Given the description of an element on the screen output the (x, y) to click on. 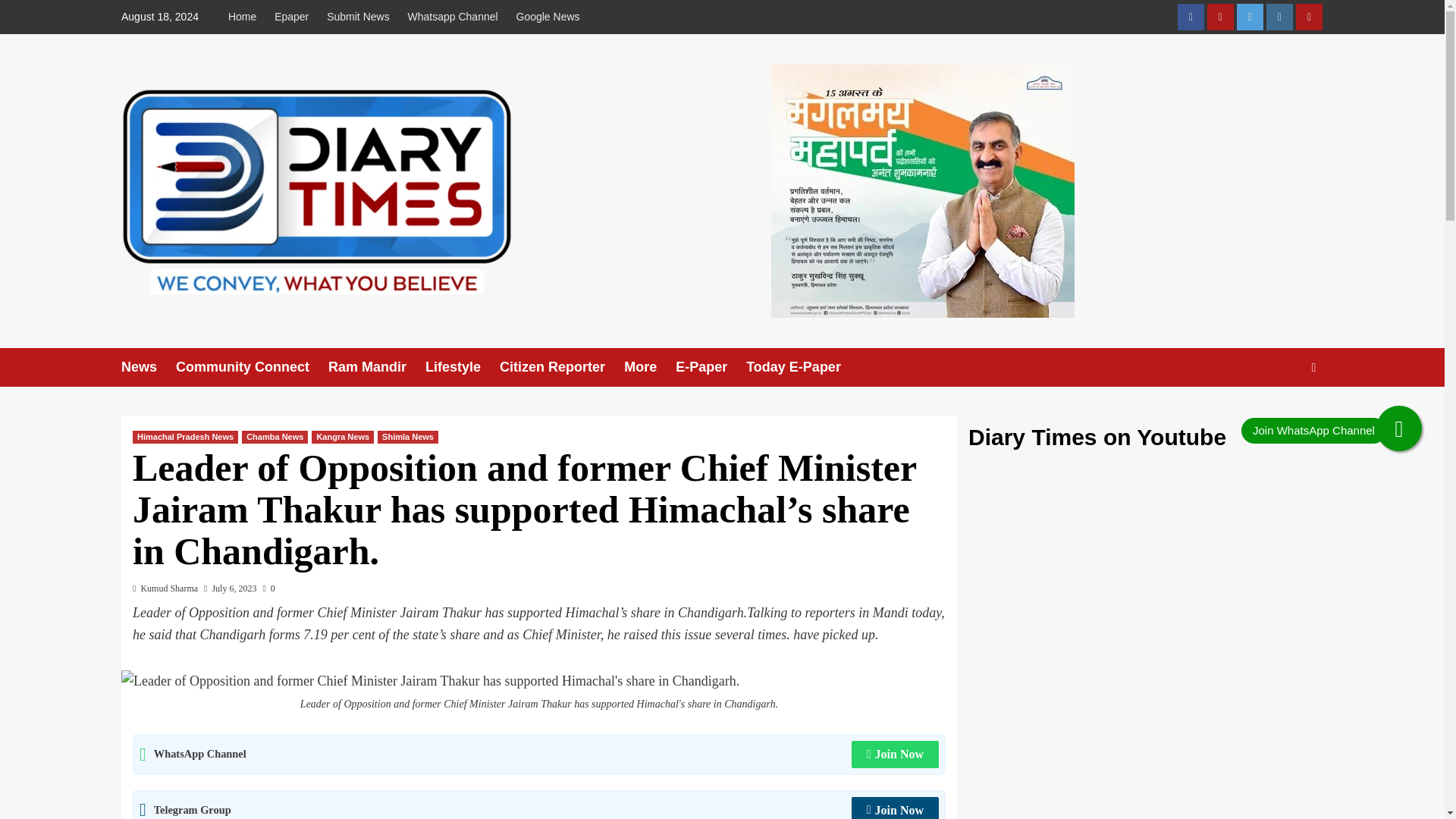
Whatsapp Channel (452, 17)
Citizen Reporter (561, 367)
Submit News (357, 17)
Google News (547, 17)
Home (245, 17)
Facebook (1190, 17)
Lifestyle (462, 367)
Ram Mandir (377, 367)
Instagram (1279, 17)
Community Connect (252, 367)
